Given the description of an element on the screen output the (x, y) to click on. 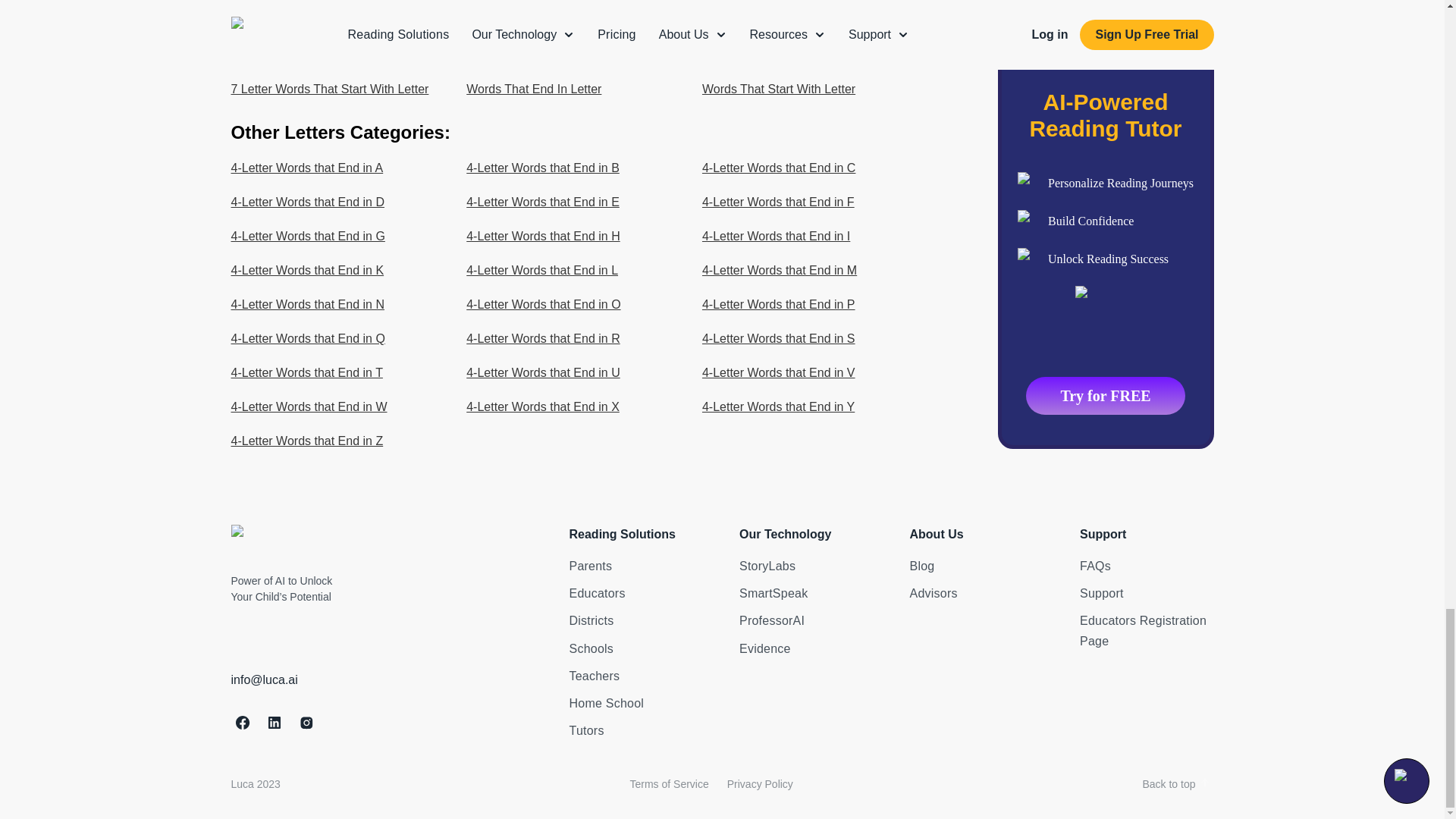
6 Letter Words That End In Letter (338, 55)
5 Letter Words That Start With Letter (809, 20)
4 Letter Words That Start With Letter (338, 20)
6 Letter Words That Start With Letter (573, 55)
7 Letter Words That End In Letter (809, 55)
5 Letter Words That End In Letter (573, 20)
